Given the description of an element on the screen output the (x, y) to click on. 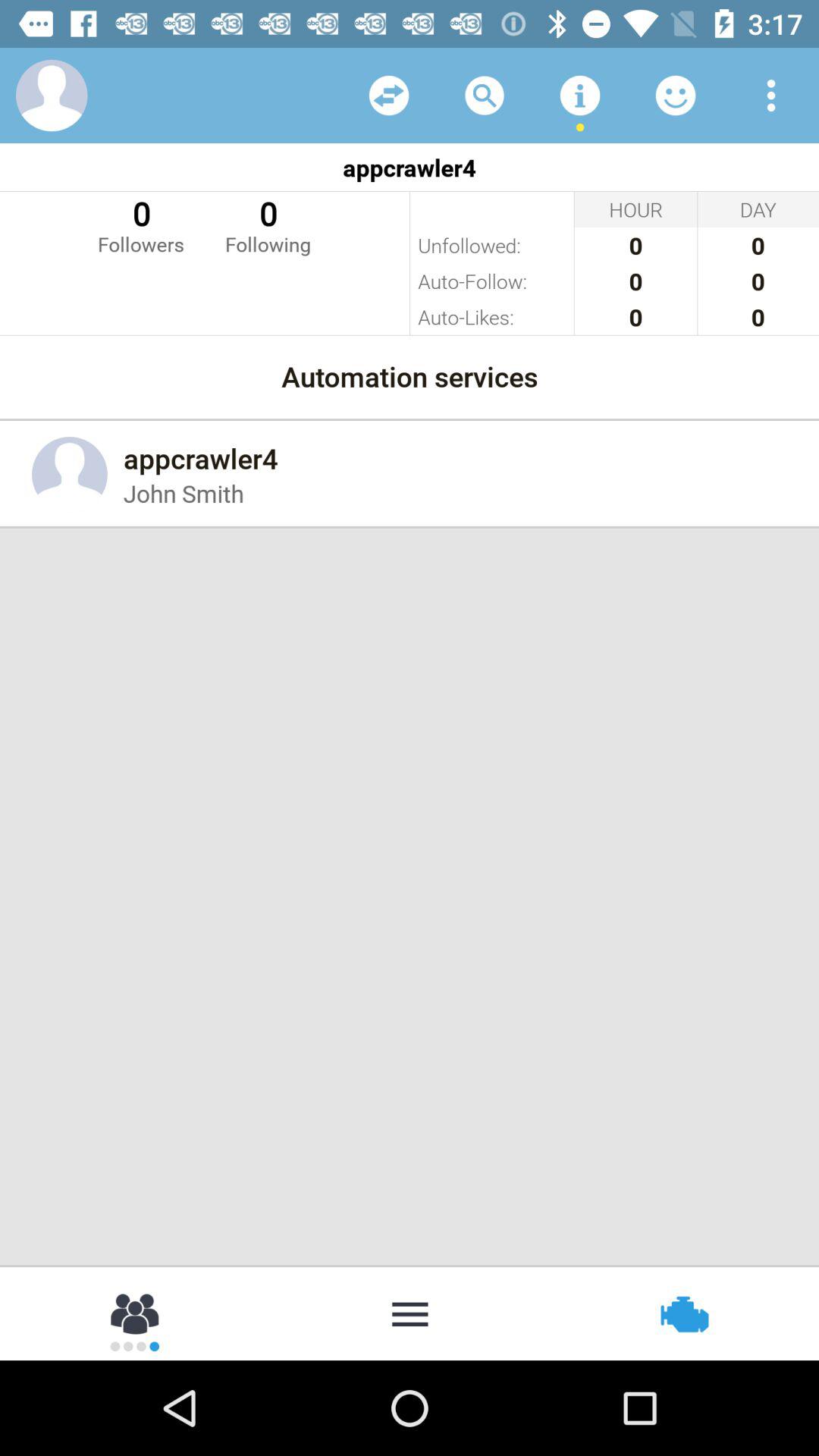
click 0
followers item (140, 224)
